Given the description of an element on the screen output the (x, y) to click on. 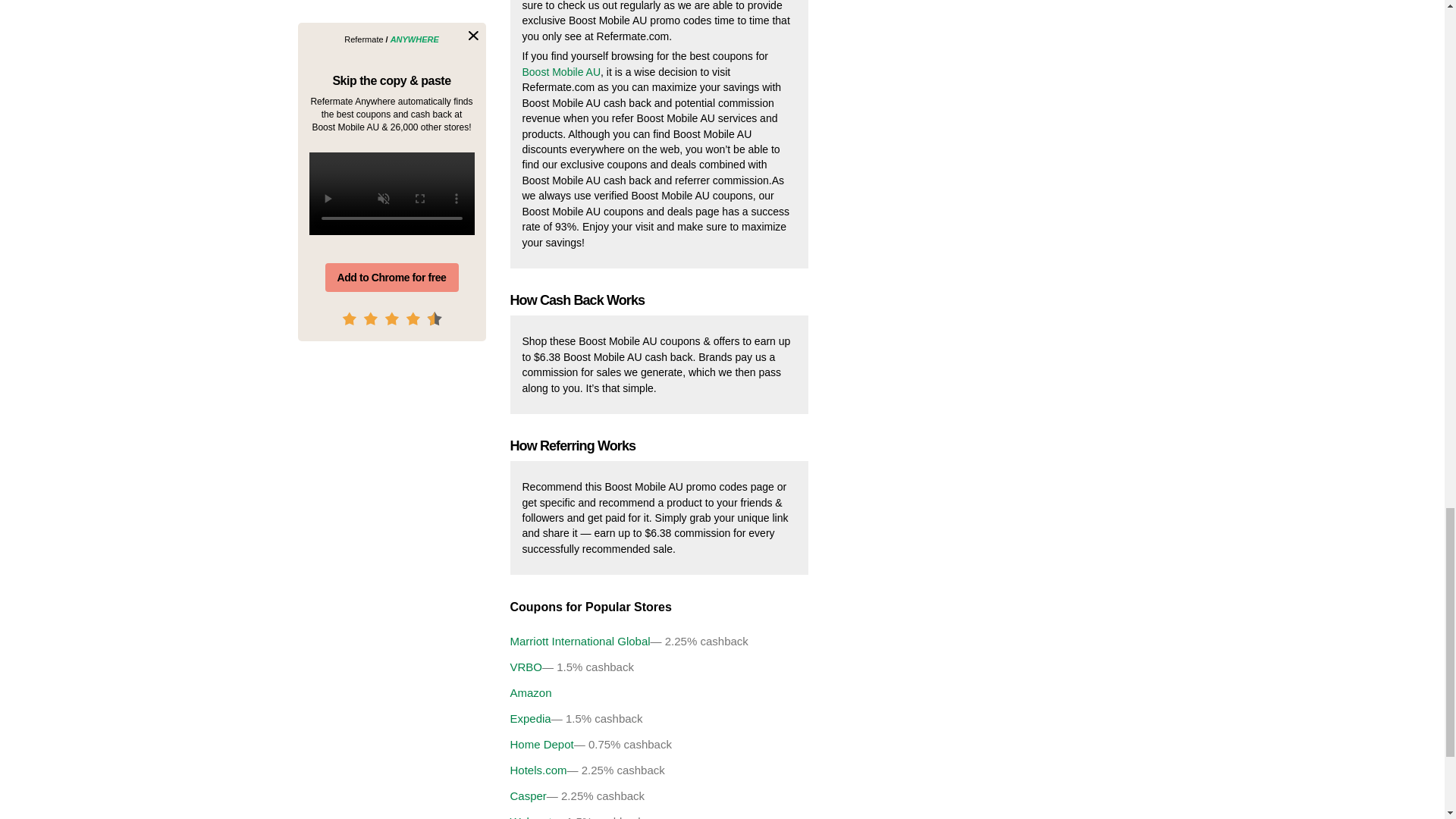
Boost Mobile AU (560, 71)
Amazon (818, 692)
